Given the description of an element on the screen output the (x, y) to click on. 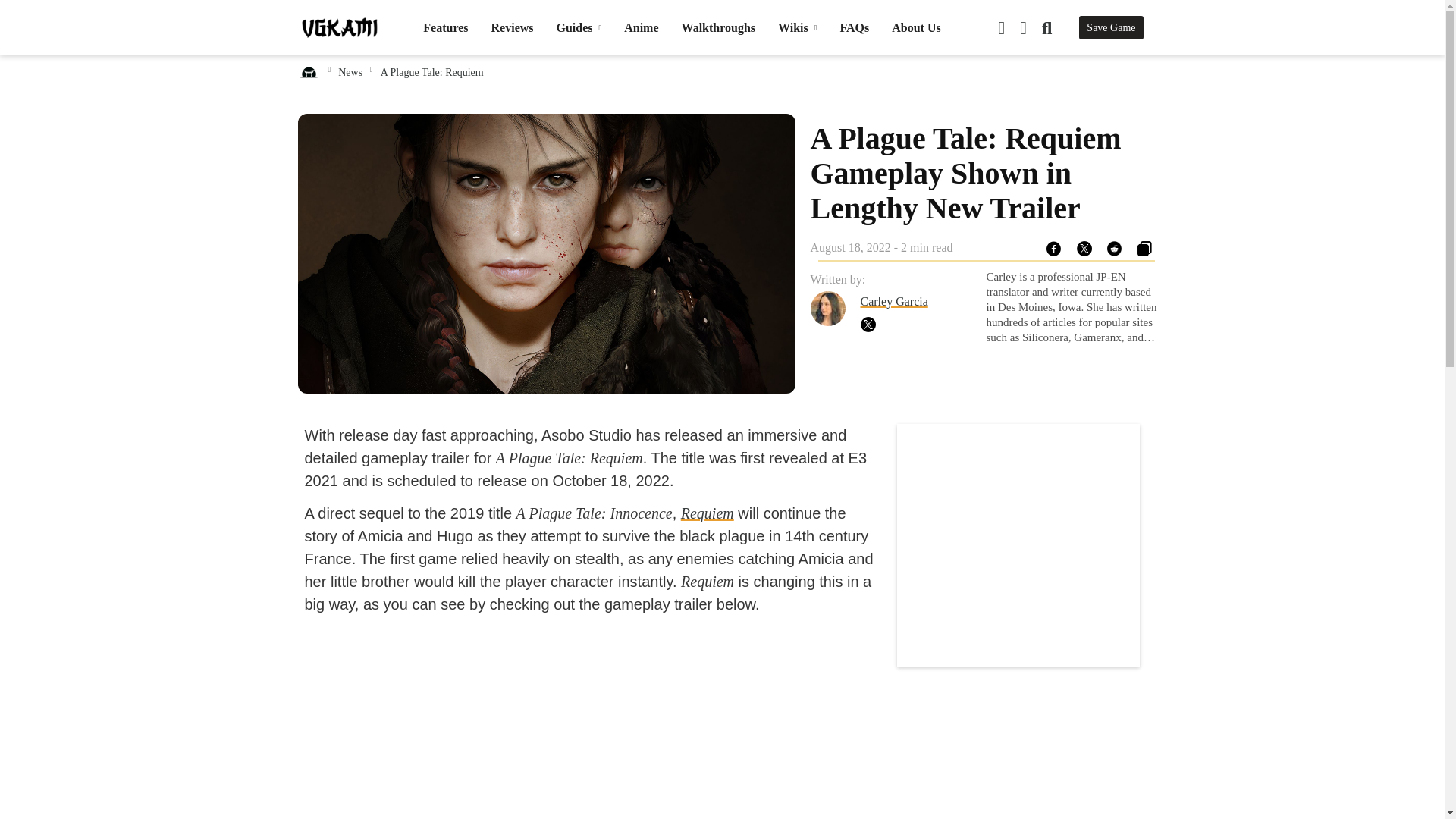
Guides (579, 27)
Wikis (796, 27)
Features (445, 27)
Walkthroughs (718, 27)
About Us (915, 27)
Reviews (513, 27)
VGKAMI (339, 27)
FAQs (854, 27)
Save Game (1110, 27)
Anime (641, 27)
